Given the description of an element on the screen output the (x, y) to click on. 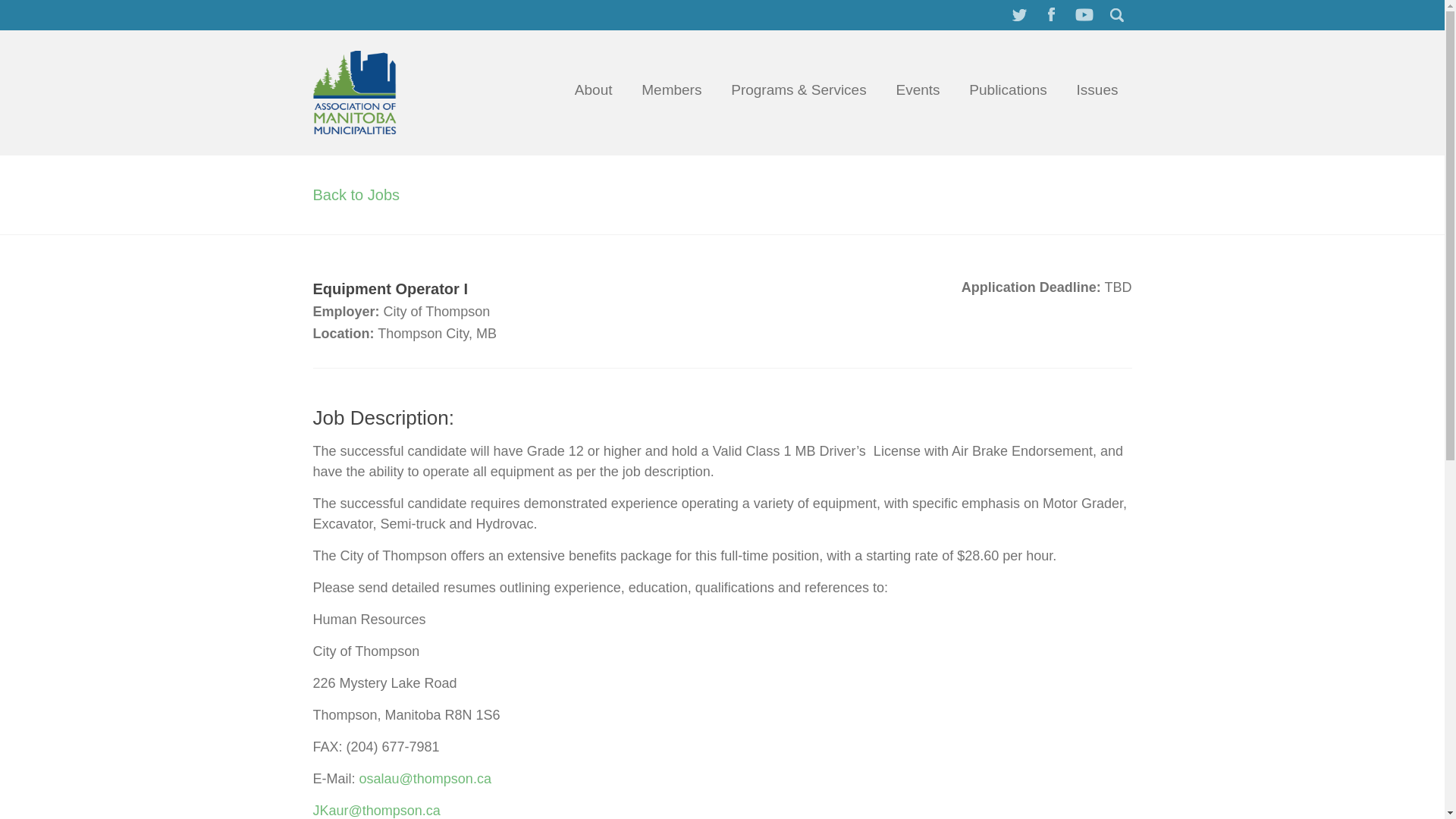
Back to Jobs (355, 194)
About (593, 90)
Search (1116, 14)
